Given the description of an element on the screen output the (x, y) to click on. 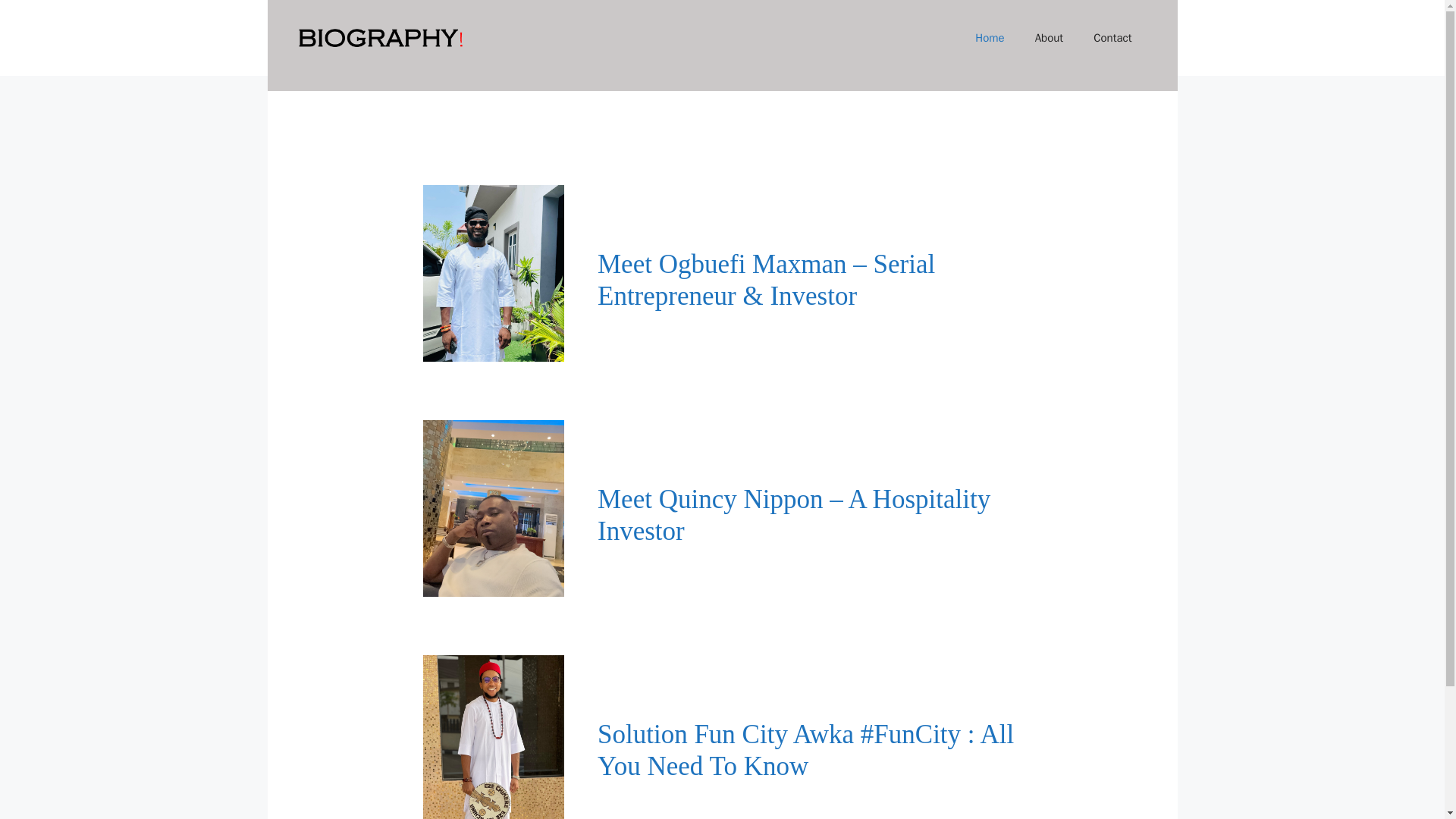
Contact (1112, 37)
Home (989, 37)
About (1049, 37)
